Given the description of an element on the screen output the (x, y) to click on. 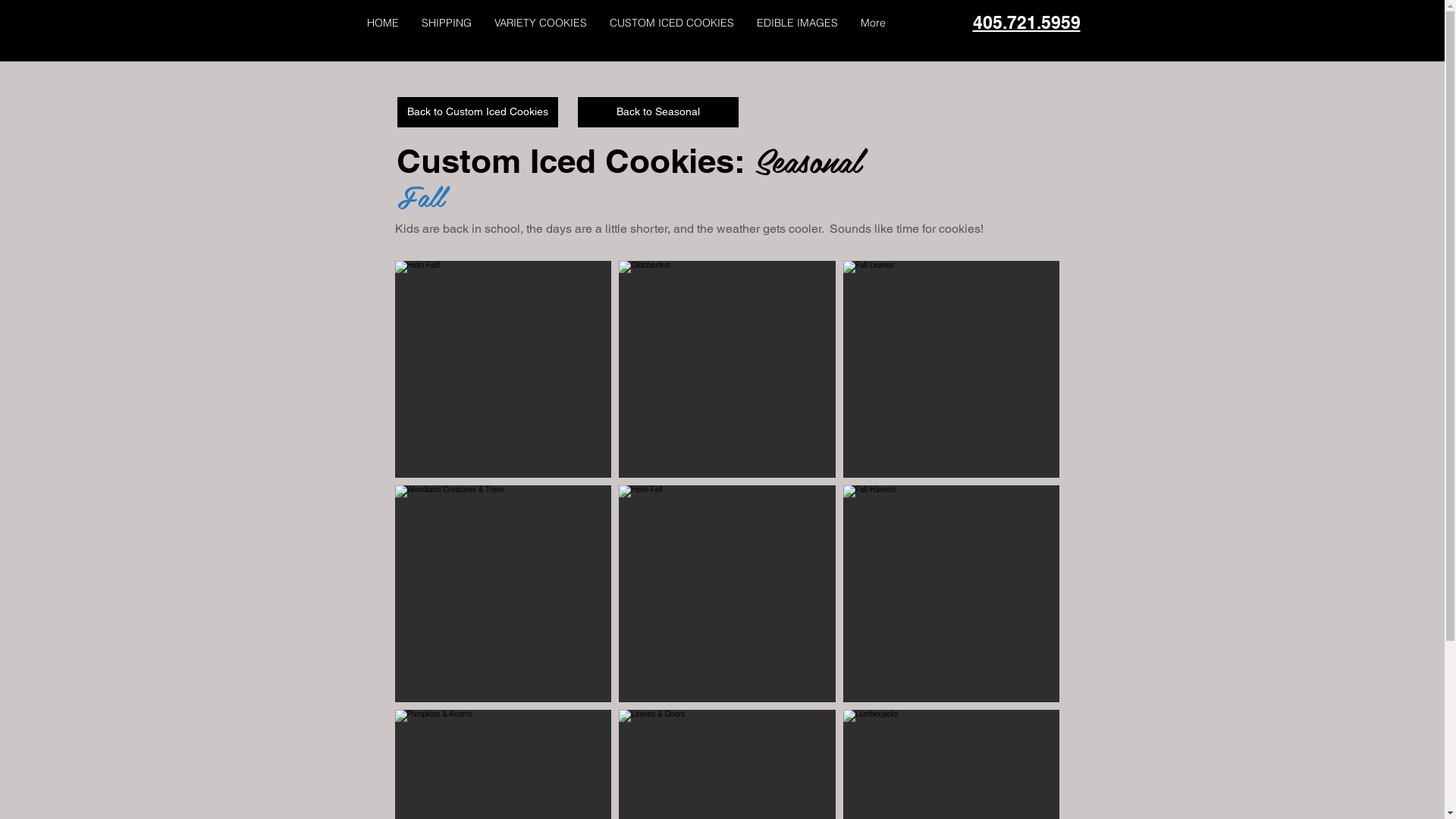
405.721.5959 Element type: text (1025, 22)
EDIBLE IMAGES Element type: text (796, 23)
SHIPPING Element type: text (445, 23)
CUSTOM ICED COOKIES Element type: text (670, 23)
Back to Custom Iced Cookies Element type: text (477, 112)
HOME Element type: text (381, 23)
VARIETY COOKIES Element type: text (539, 23)
Back to Seasonal Element type: text (657, 112)
